Given the description of an element on the screen output the (x, y) to click on. 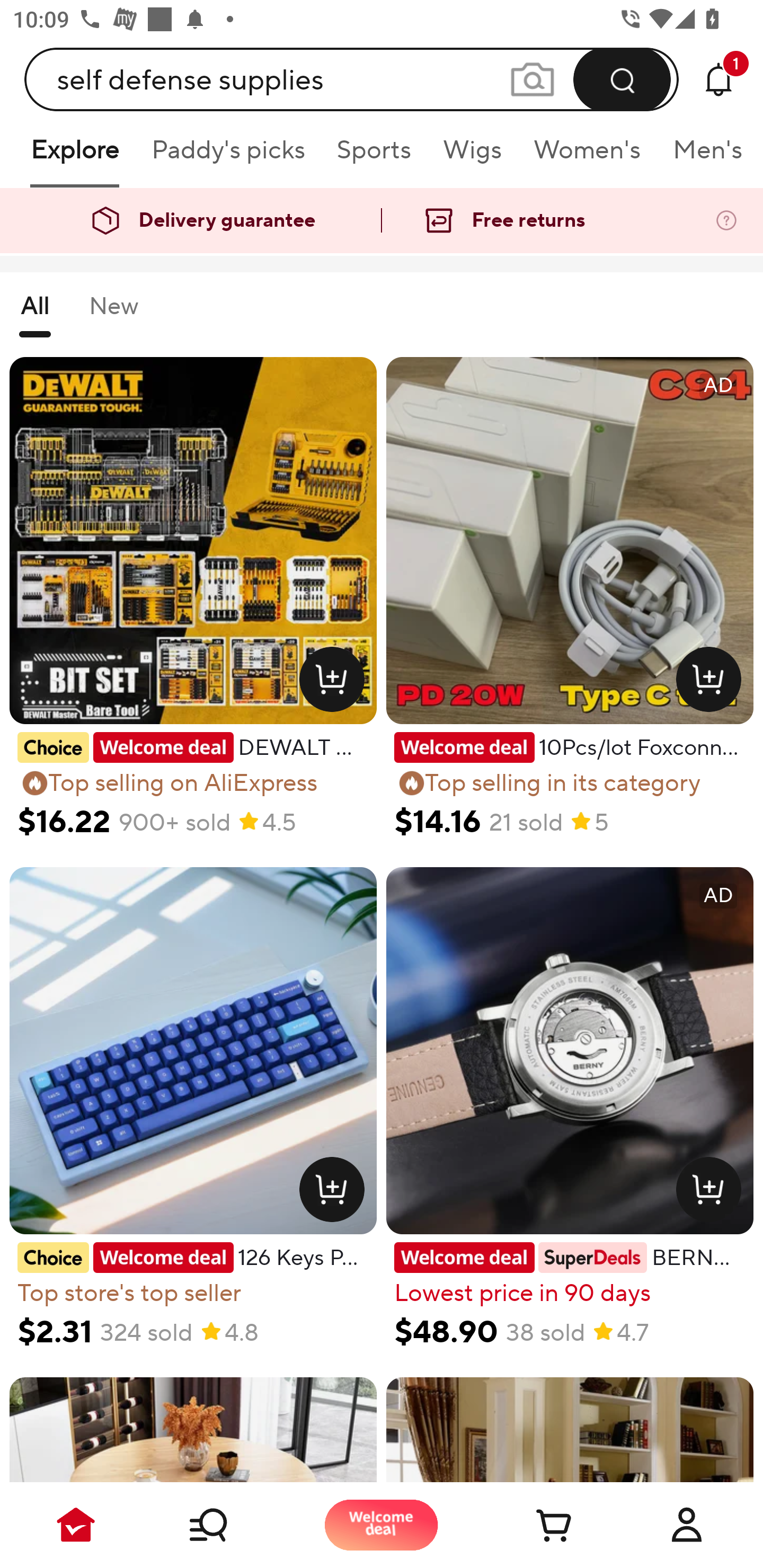
self defense supplies (351, 79)
Paddy's picks (227, 155)
Sports (373, 155)
Wigs (472, 155)
Women's (586, 155)
Men's (701, 155)
New (113, 314)
Shop (228, 1524)
Cart (533, 1524)
Account (686, 1524)
